Given the description of an element on the screen output the (x, y) to click on. 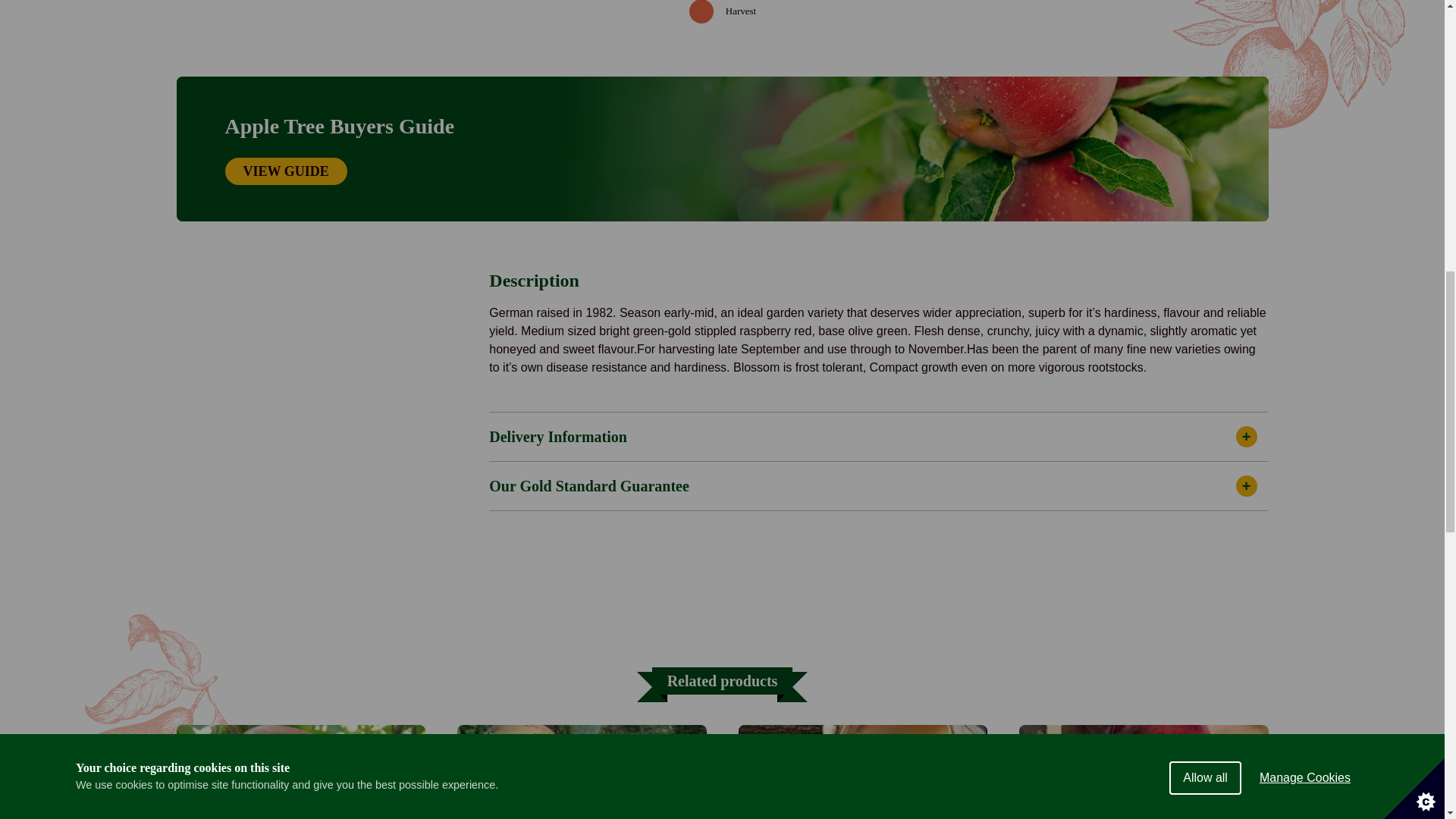
Allow all (1205, 24)
Manage Cookies (1304, 17)
Table showing the flowering and harvesting months (722, 13)
